Given the description of an element on the screen output the (x, y) to click on. 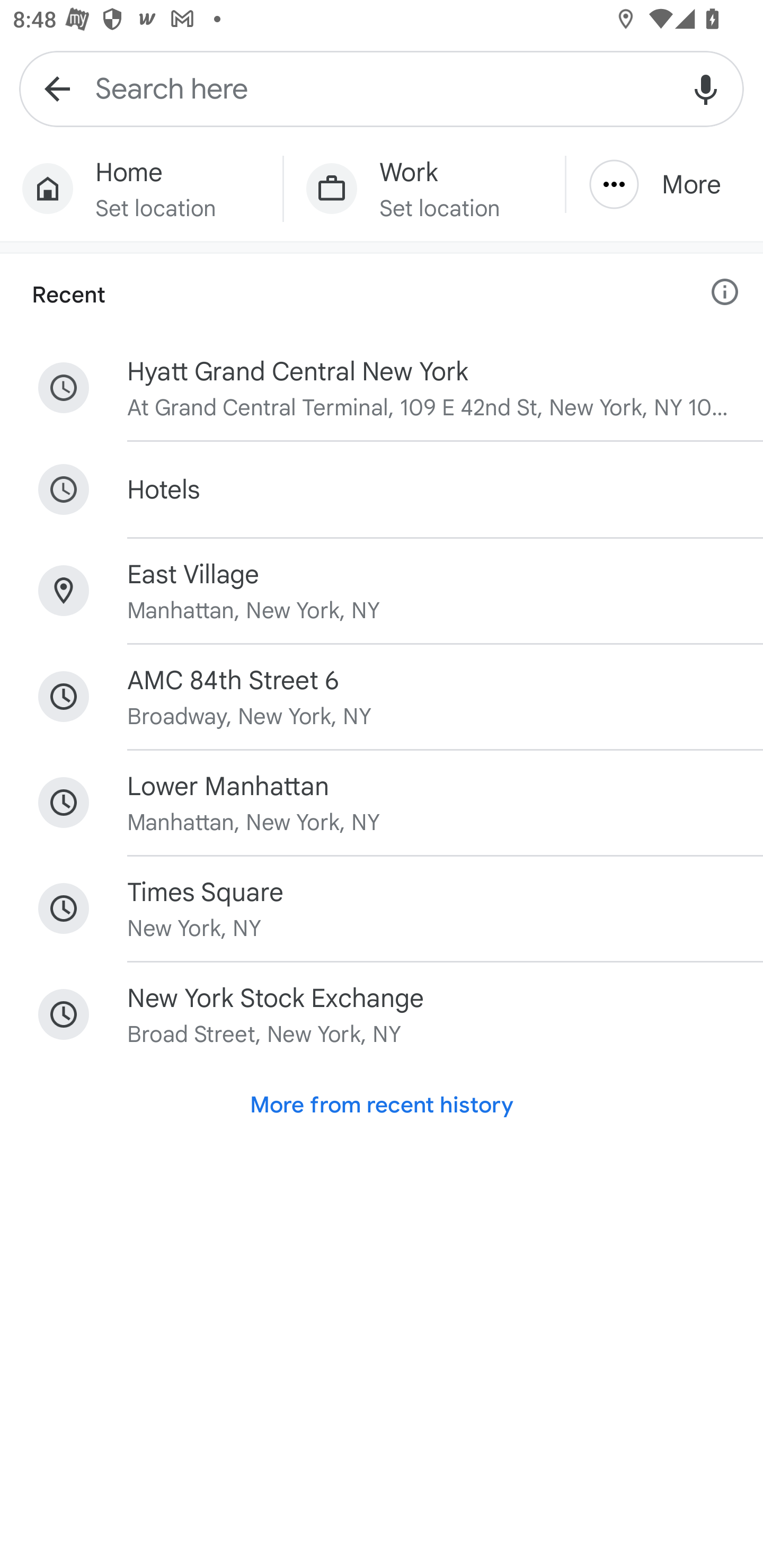
Navigate up (57, 88)
Search here (381, 88)
Voice search (705, 88)
Home Set location (141, 188)
Work Set location (423, 188)
More (664, 184)
Hotels (381, 489)
East Village Manhattan, New York, NY (381, 590)
AMC 84th Street 6 Broadway, New York, NY (381, 696)
Lower Manhattan Manhattan, New York, NY (381, 802)
Times Square New York, NY (381, 908)
New York Stock Exchange Broad Street, New York, NY (381, 1014)
More from recent history (381, 1104)
